Given the description of an element on the screen output the (x, y) to click on. 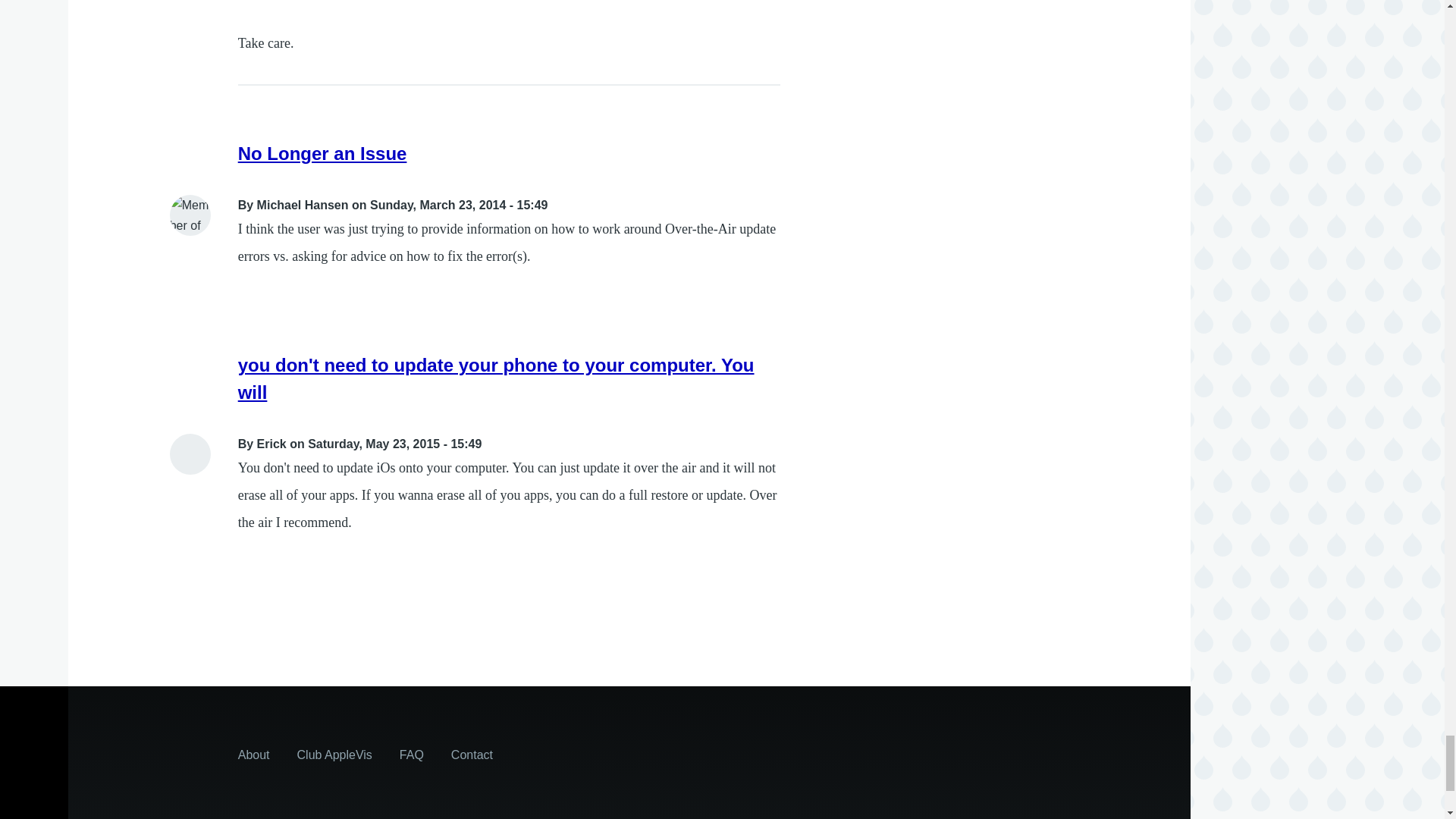
About (253, 754)
Answers to some frequently asked questions about AppleVis (410, 754)
